Given the description of an element on the screen output the (x, y) to click on. 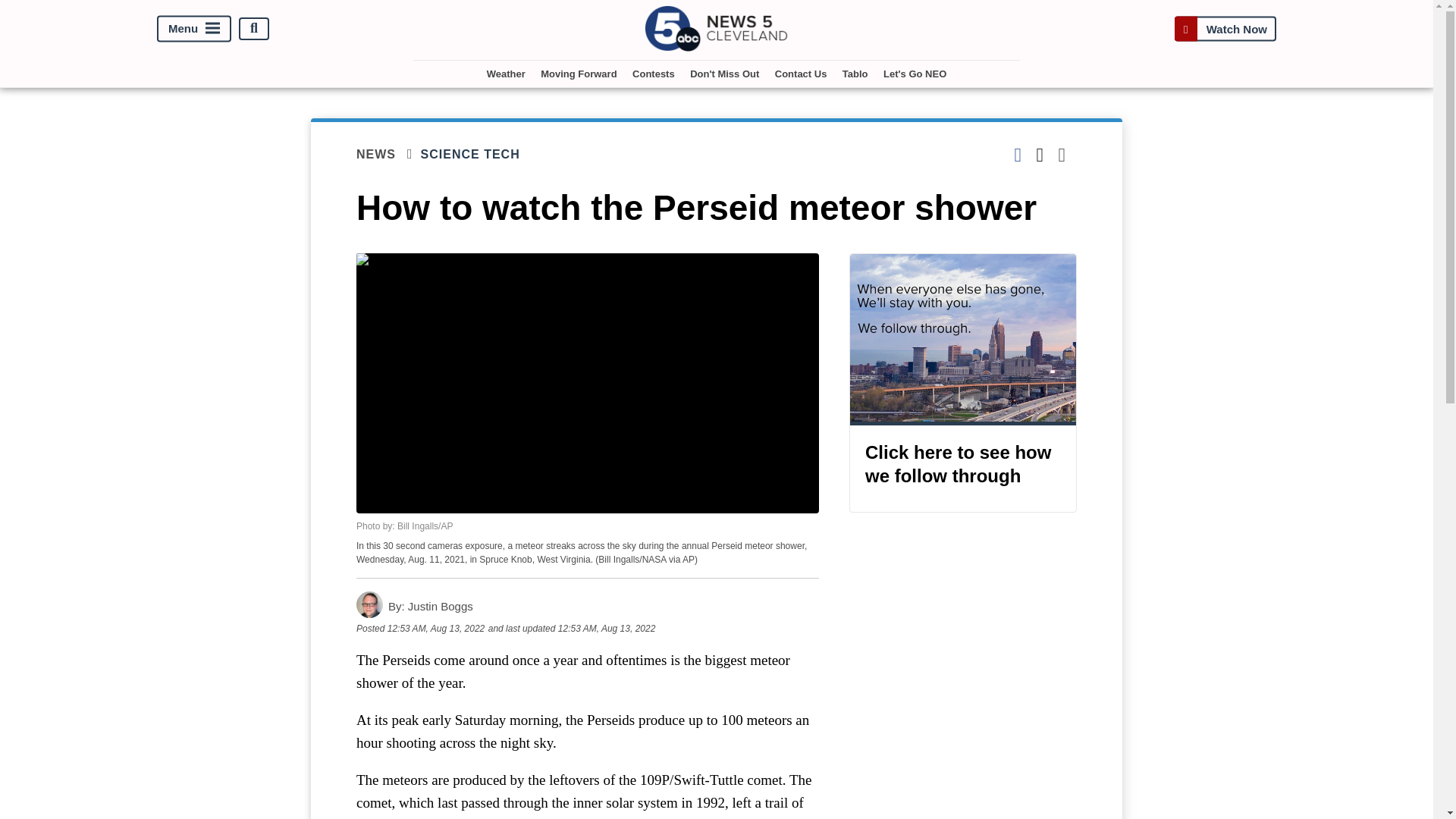
Watch Now (1224, 28)
Menu (194, 28)
